Given the description of an element on the screen output the (x, y) to click on. 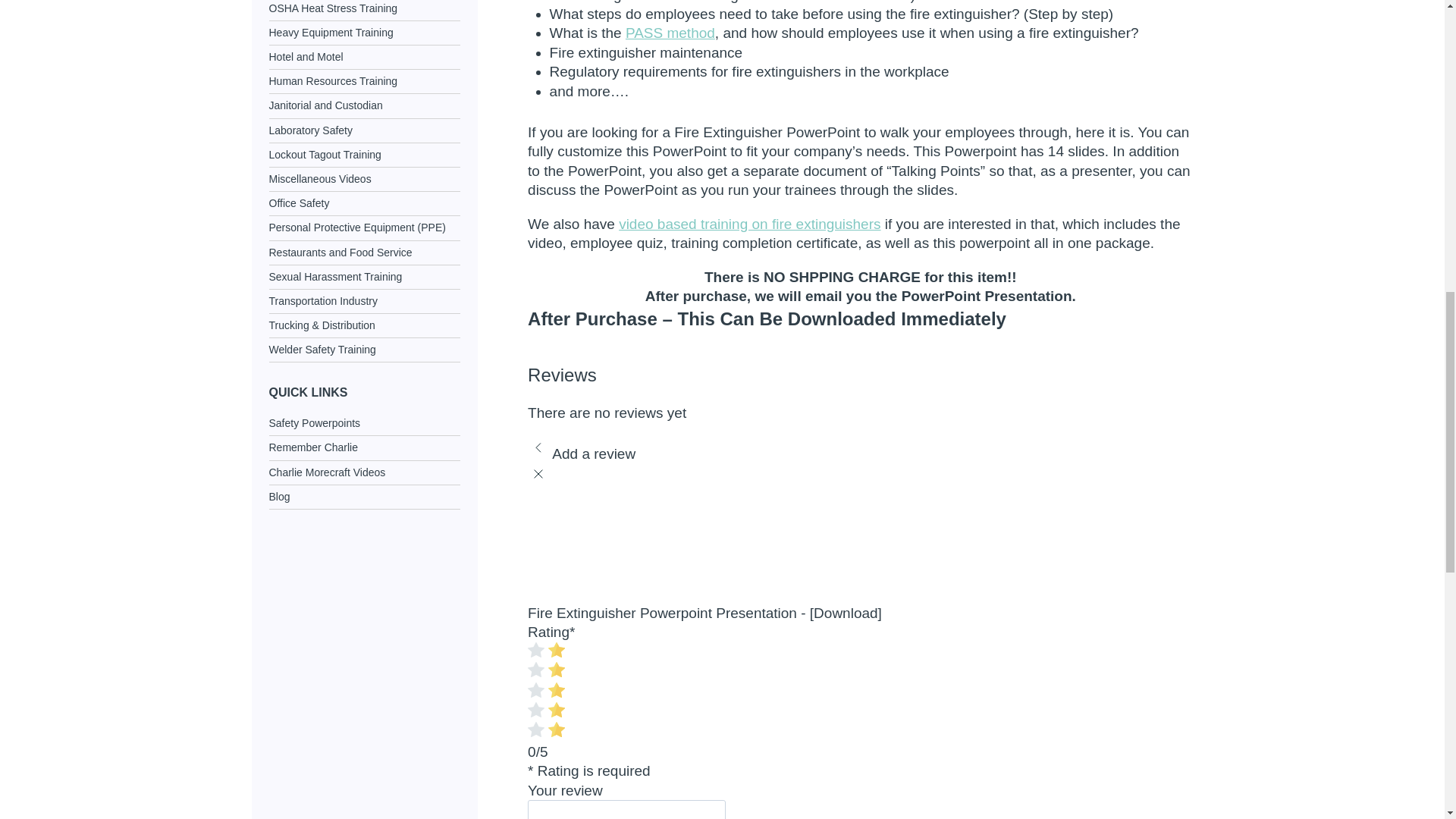
PASS method (670, 32)
video based training on fire extinguishers (749, 223)
